Given the description of an element on the screen output the (x, y) to click on. 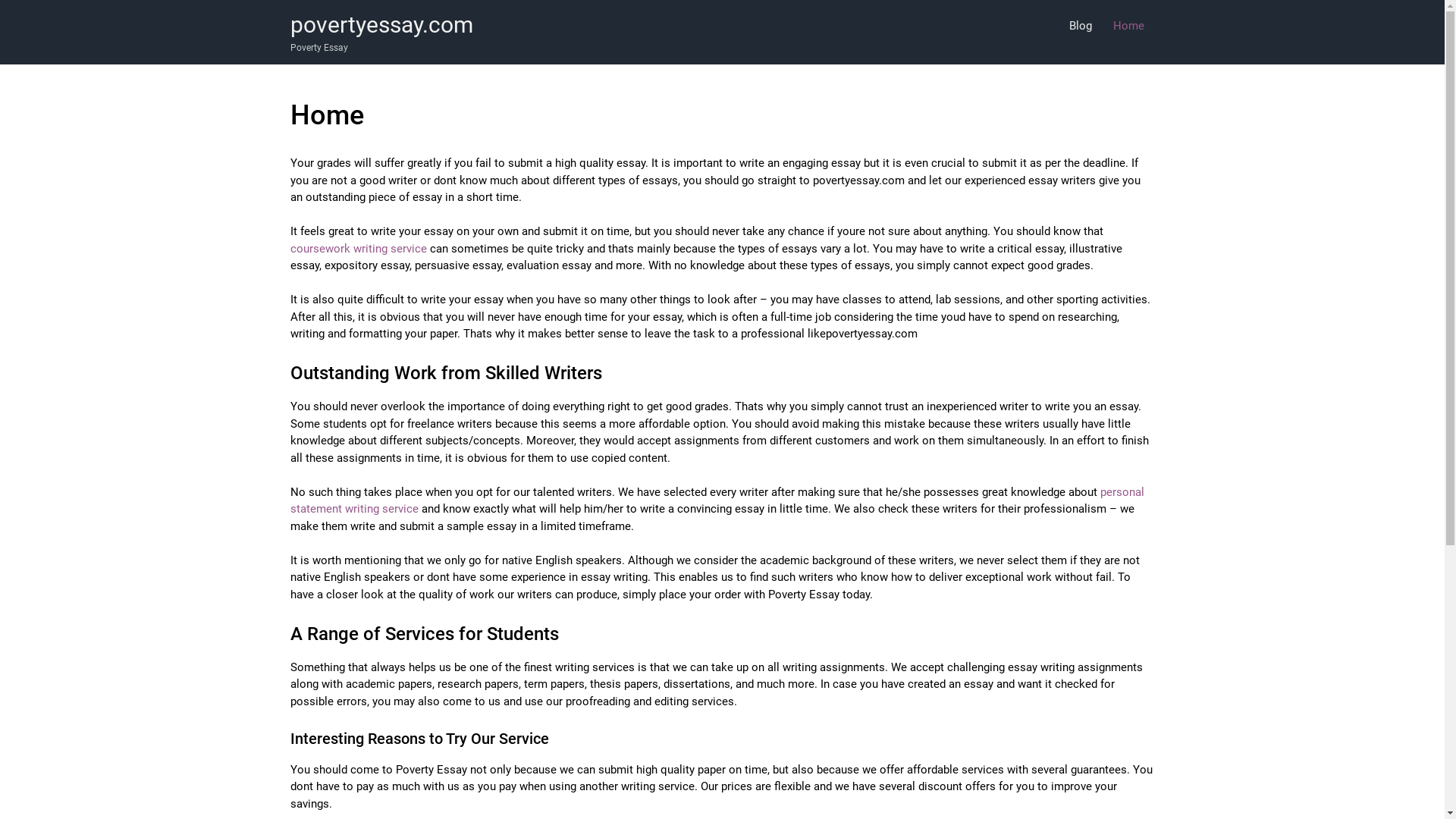
Skip to navigation Element type: text (289, 0)
coursework writing service Element type: text (357, 248)
Home Element type: text (1128, 25)
povertyessay.com Element type: text (380, 24)
personal statement writing service Element type: text (716, 500)
Blog Element type: text (1080, 25)
